Given the description of an element on the screen output the (x, y) to click on. 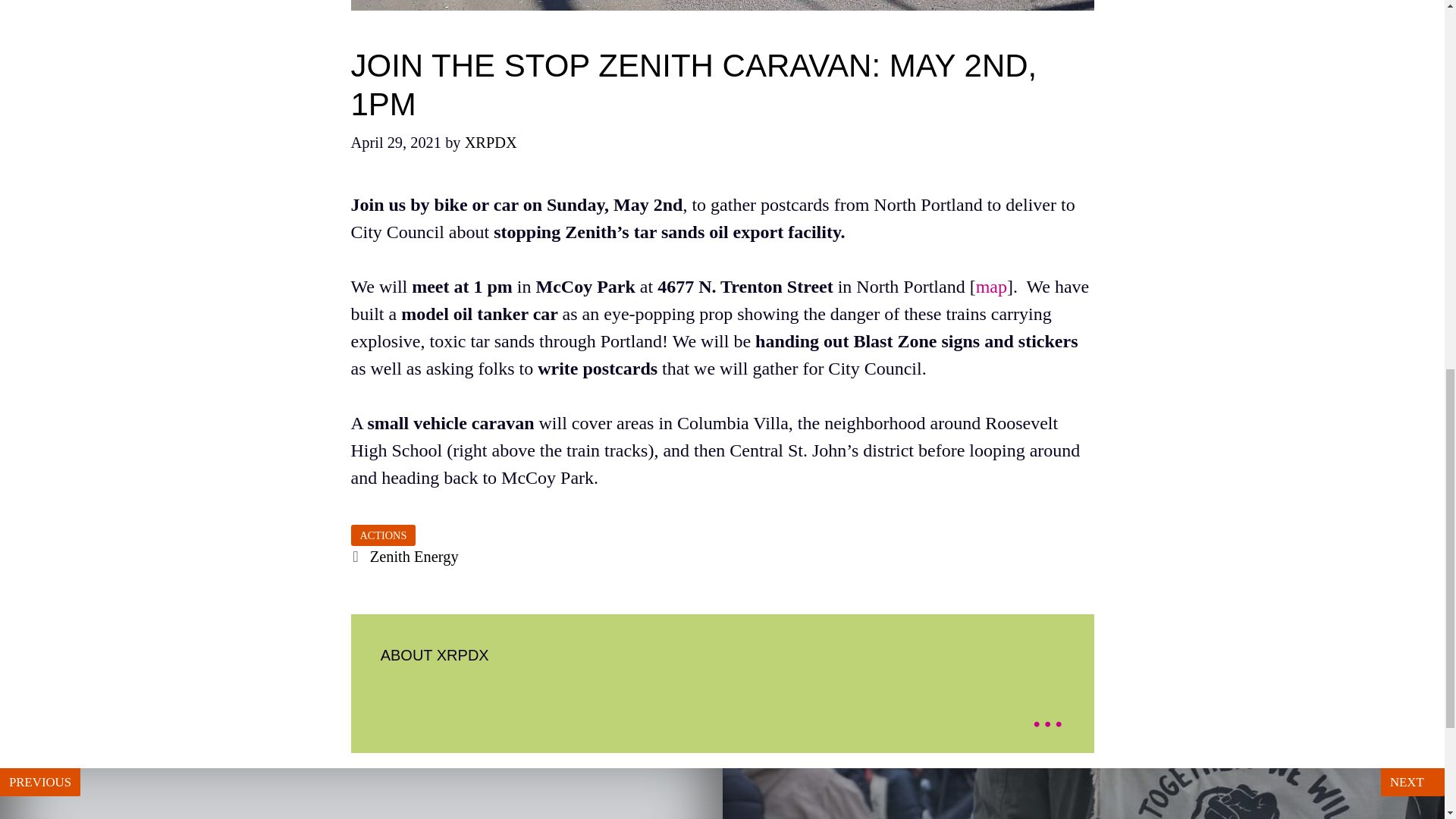
... (1047, 712)
ACTIONS (382, 535)
Scroll back to top (1406, 720)
View all posts by XRPDX (490, 142)
Zenith Energy (413, 556)
map (361, 793)
XRPDX (991, 286)
Read more (490, 142)
